Given the description of an element on the screen output the (x, y) to click on. 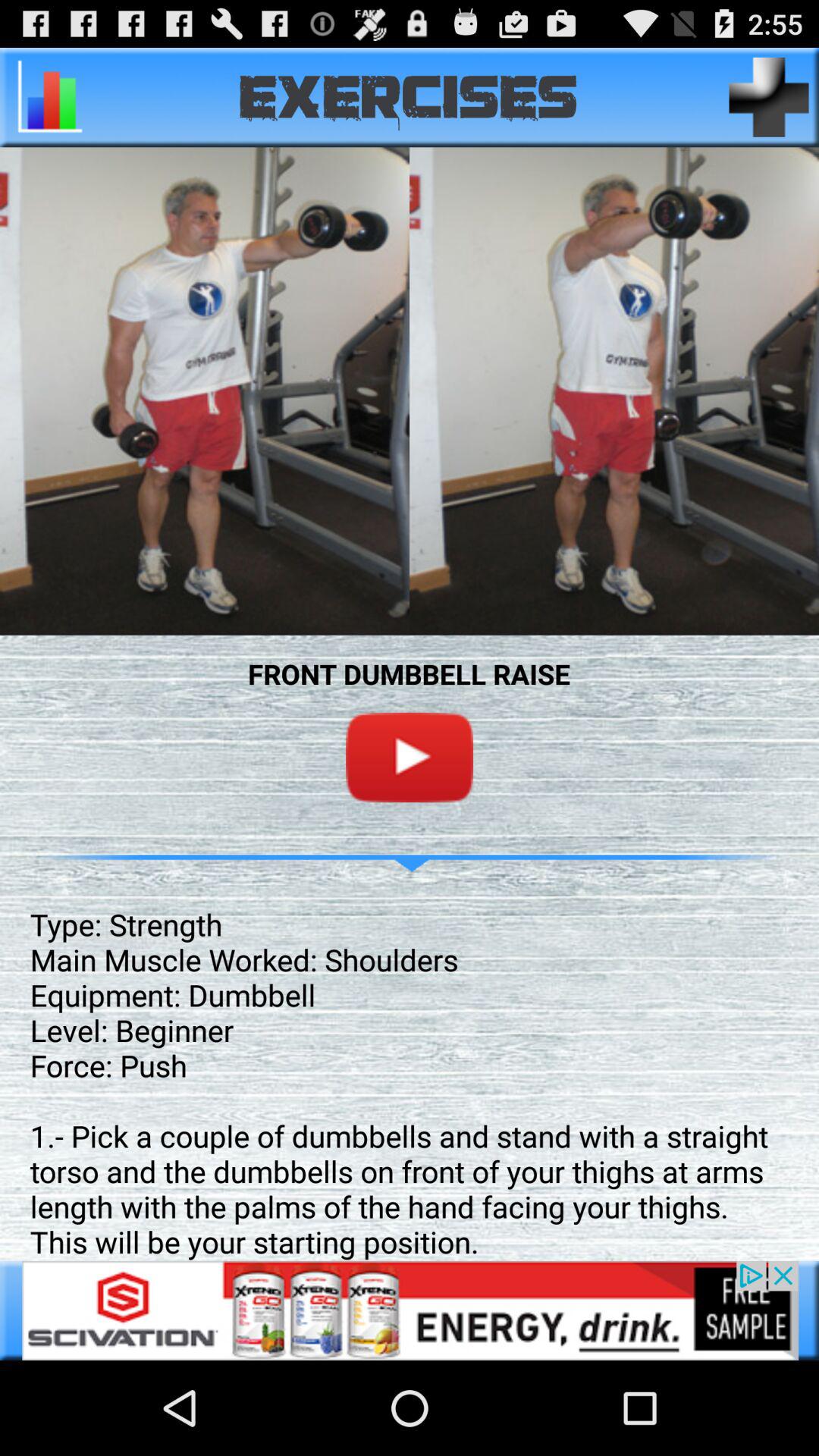
play video (409, 757)
